Given the description of an element on the screen output the (x, y) to click on. 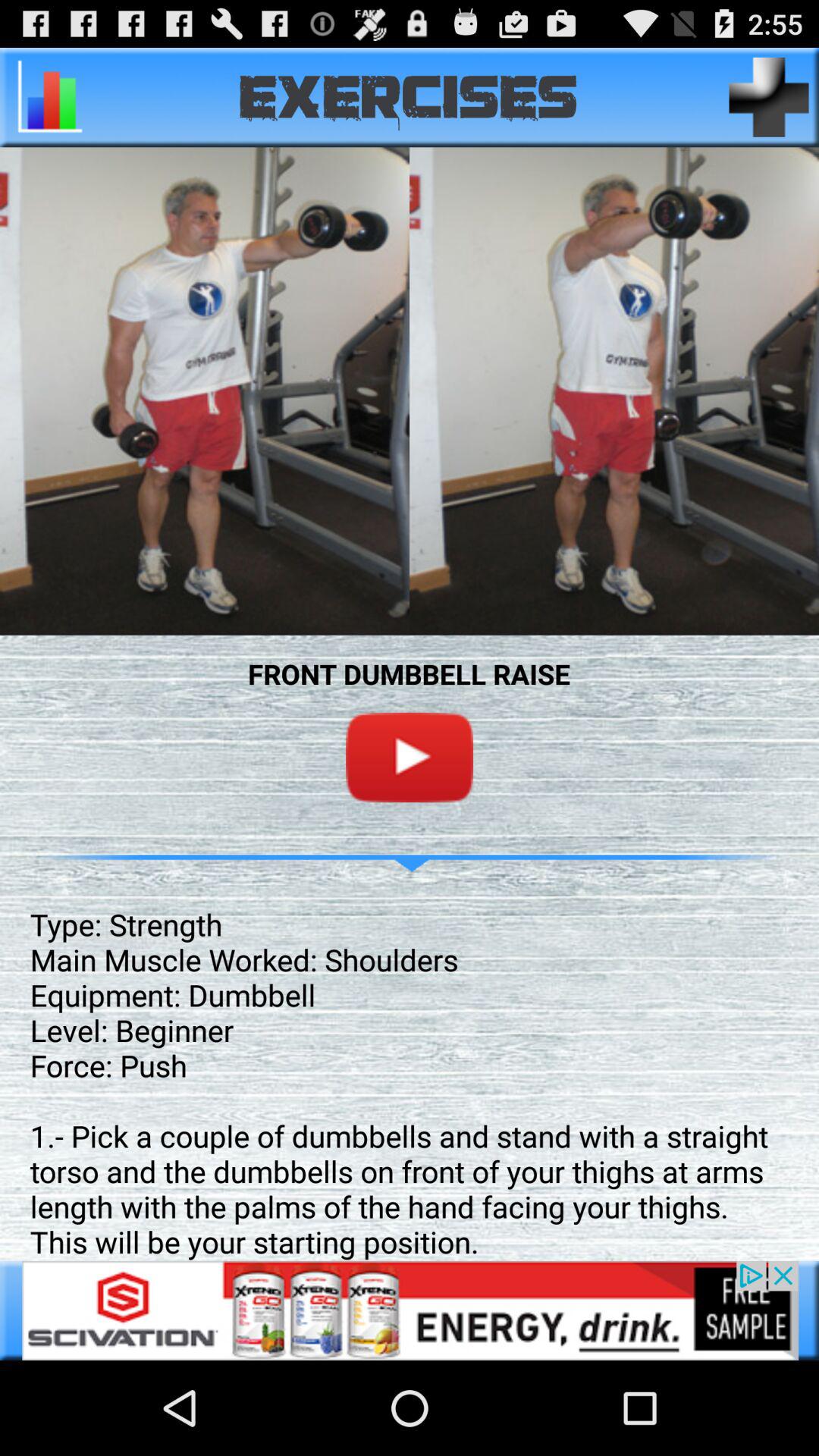
play video (409, 757)
